Given the description of an element on the screen output the (x, y) to click on. 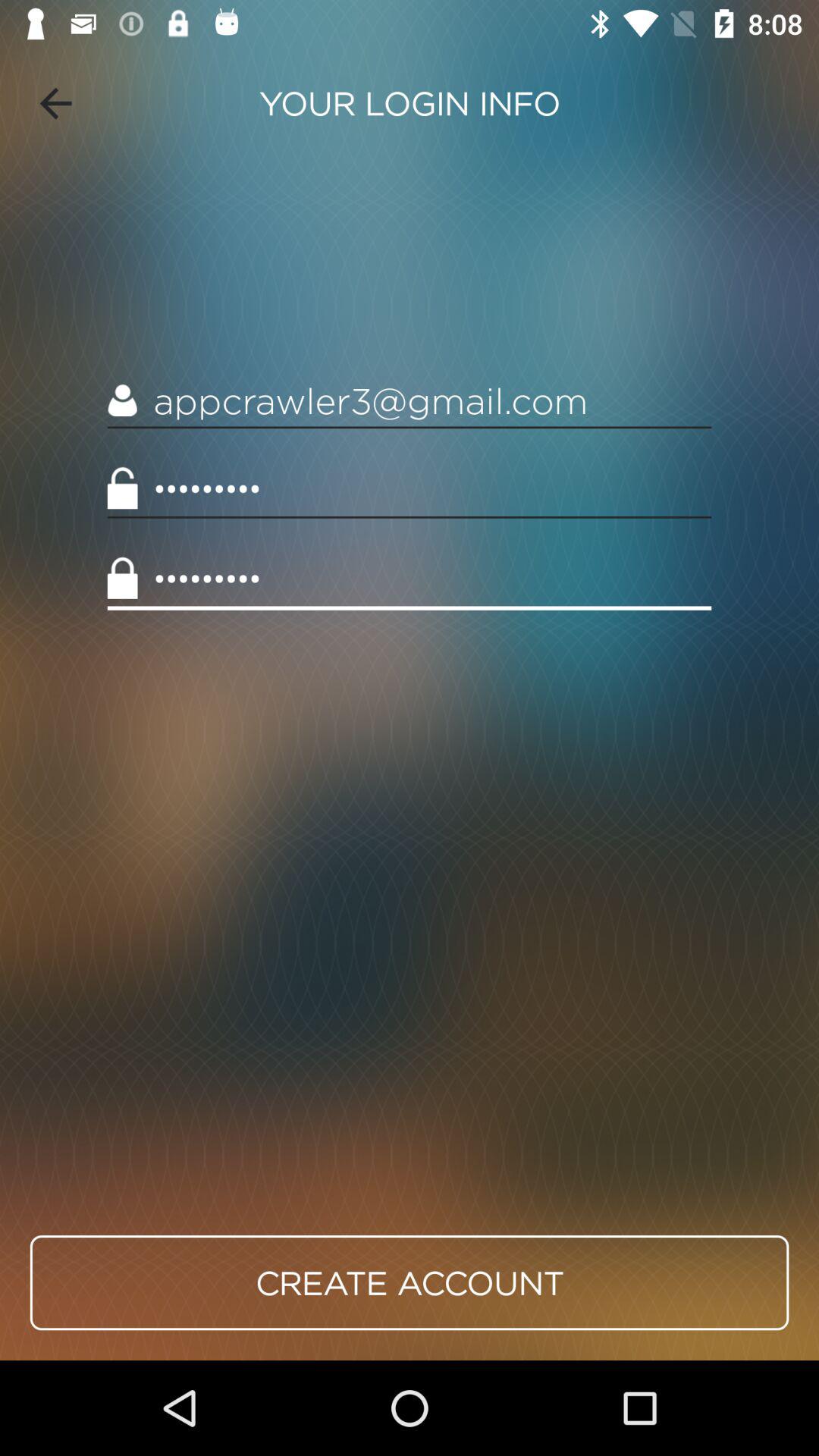
turn on item next to the your login info item (55, 103)
